Given the description of an element on the screen output the (x, y) to click on. 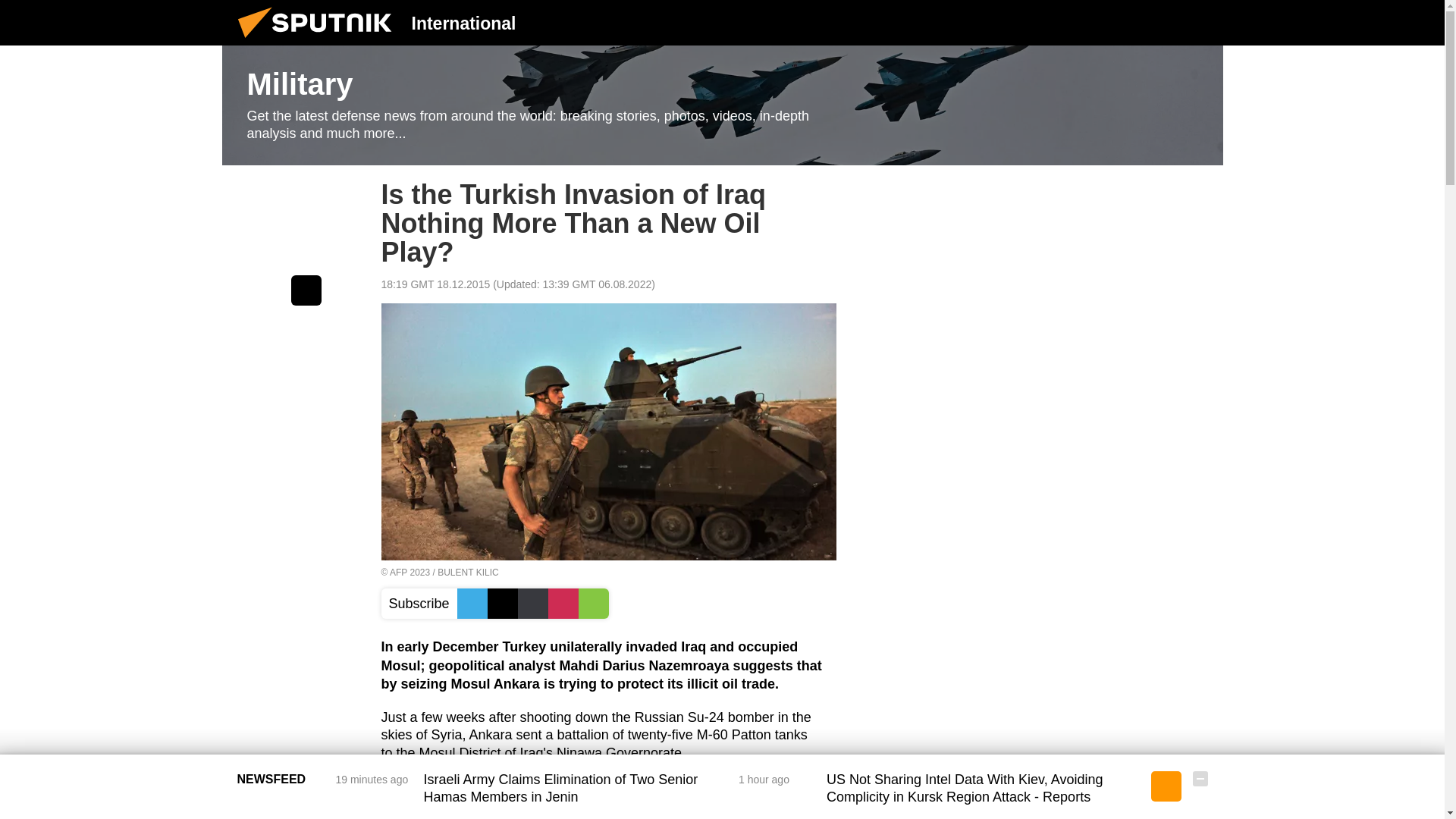
Authorization (1123, 22)
Military (722, 105)
Chats (1199, 22)
Sputnik International (319, 41)
